Given the description of an element on the screen output the (x, y) to click on. 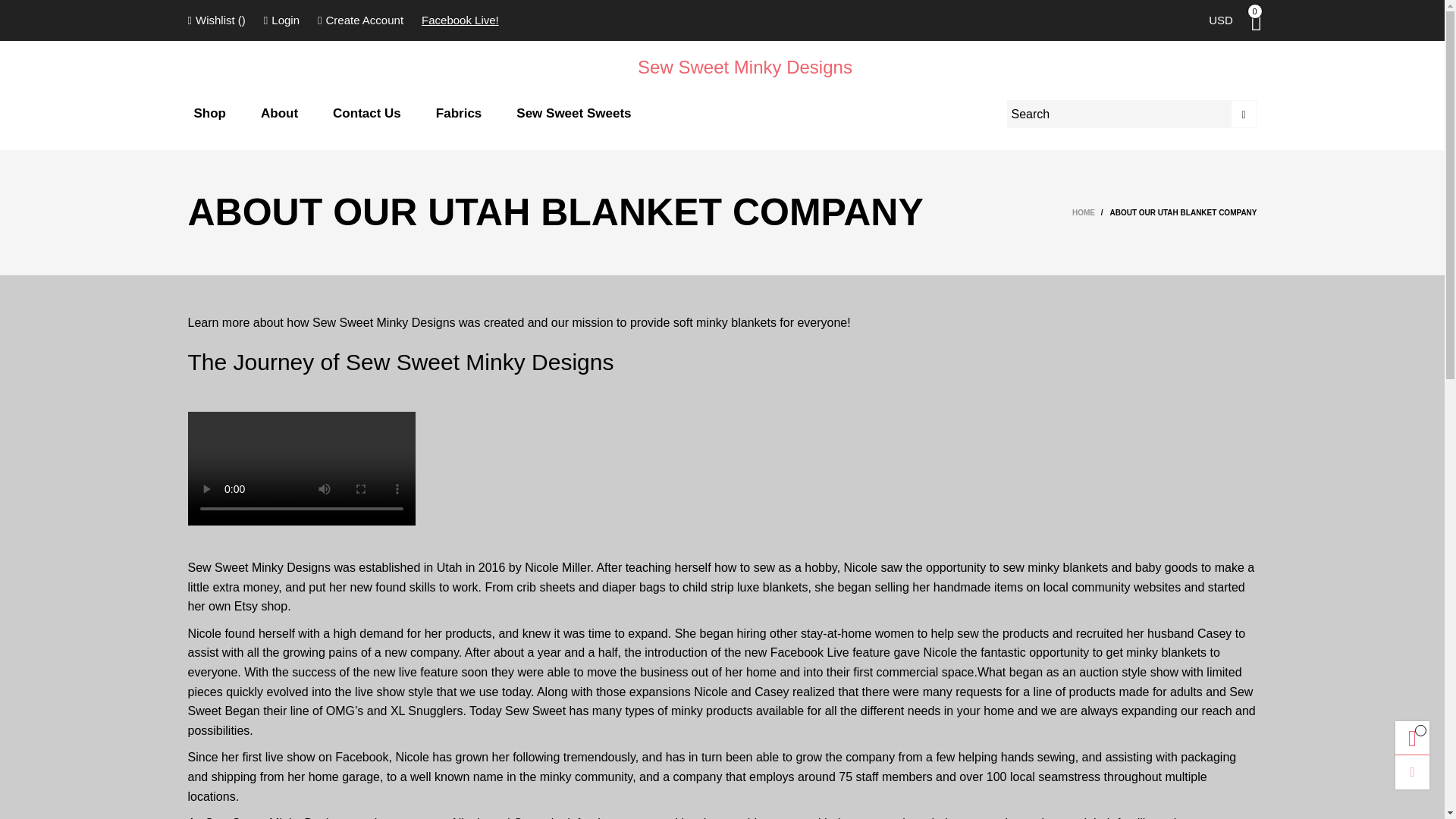
Sign In (312, 192)
About (279, 113)
My Account (281, 20)
Currency (1220, 20)
Contact Us (367, 113)
Login (281, 20)
Create Account (360, 20)
Sew Sweet Minky Designs (721, 67)
USD (1220, 20)
Sew Sweet Sweets (573, 113)
